Given the description of an element on the screen output the (x, y) to click on. 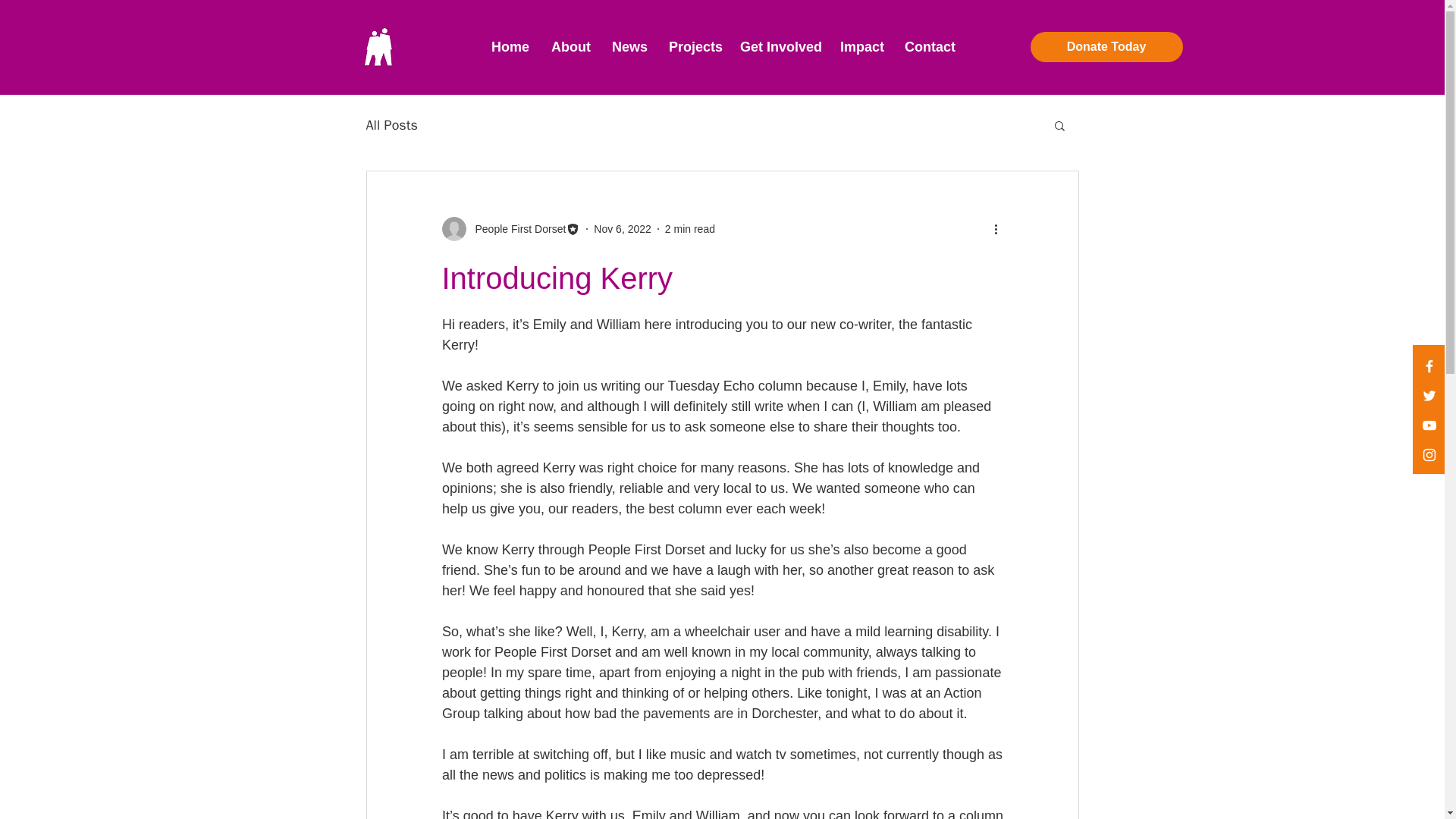
About (569, 47)
Contact (928, 47)
All Posts (390, 125)
Home (510, 47)
Get Involved (778, 47)
2 min read (689, 228)
Projects (693, 47)
People First Dorset (515, 229)
News (628, 47)
Donate Today (1105, 46)
